Given the description of an element on the screen output the (x, y) to click on. 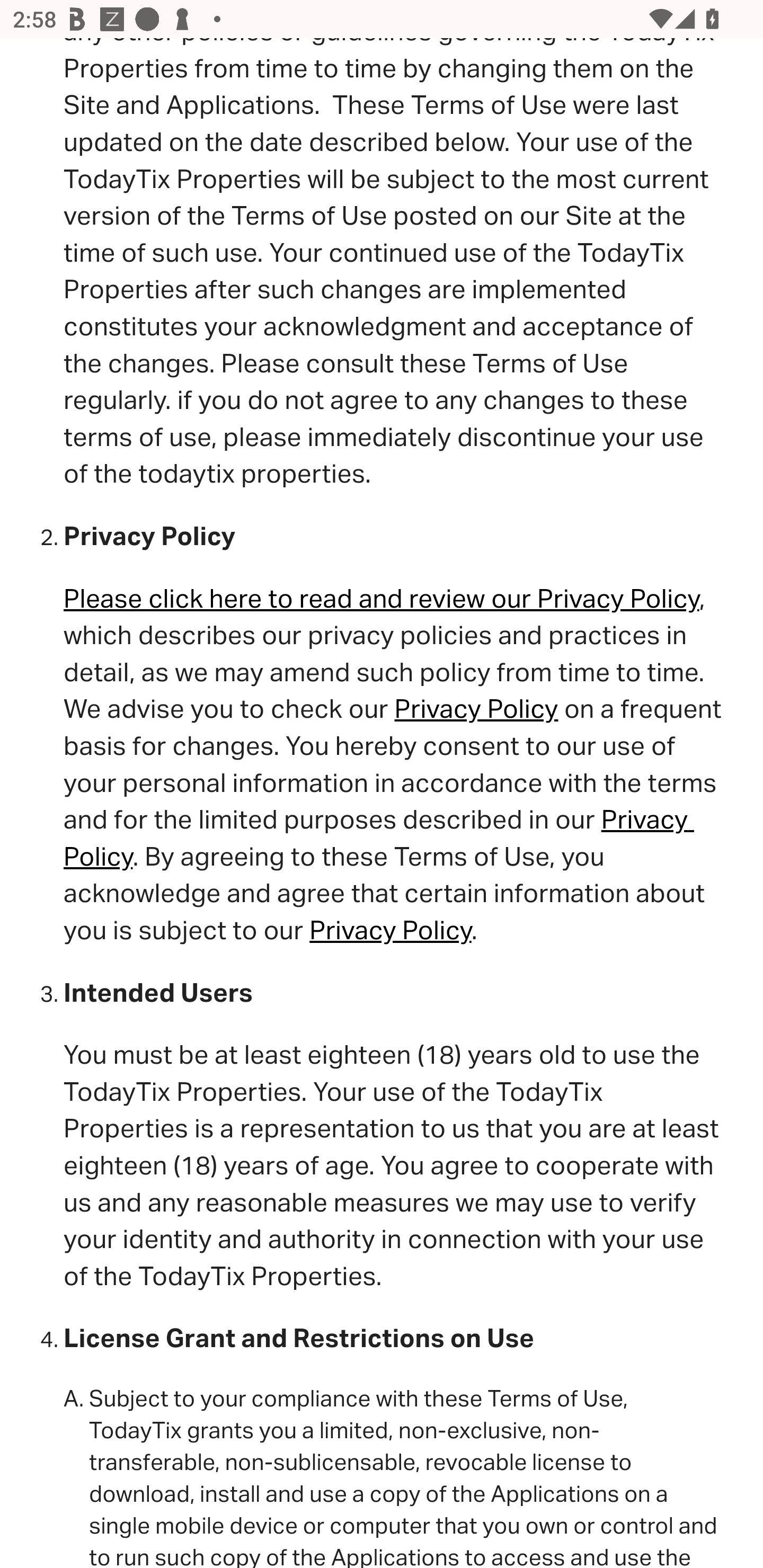
Privacy Policy (476, 709)
Privacy Policy (378, 837)
Privacy Policy (390, 930)
